Given the description of an element on the screen output the (x, y) to click on. 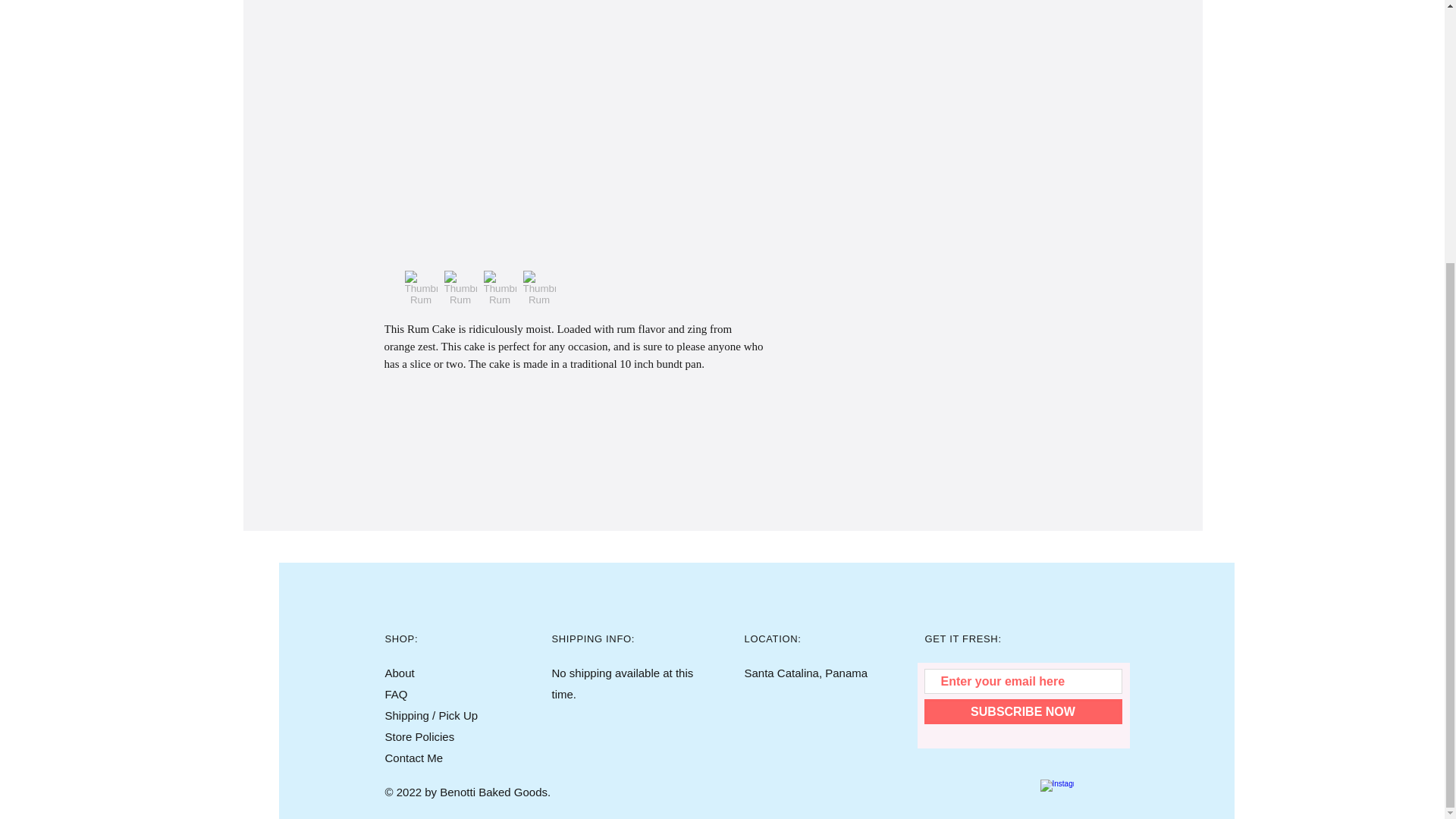
SUBSCRIBE NOW (1022, 711)
Store Policies (419, 736)
FAQ (396, 694)
Contact Me (414, 757)
About (399, 672)
